Given the description of an element on the screen output the (x, y) to click on. 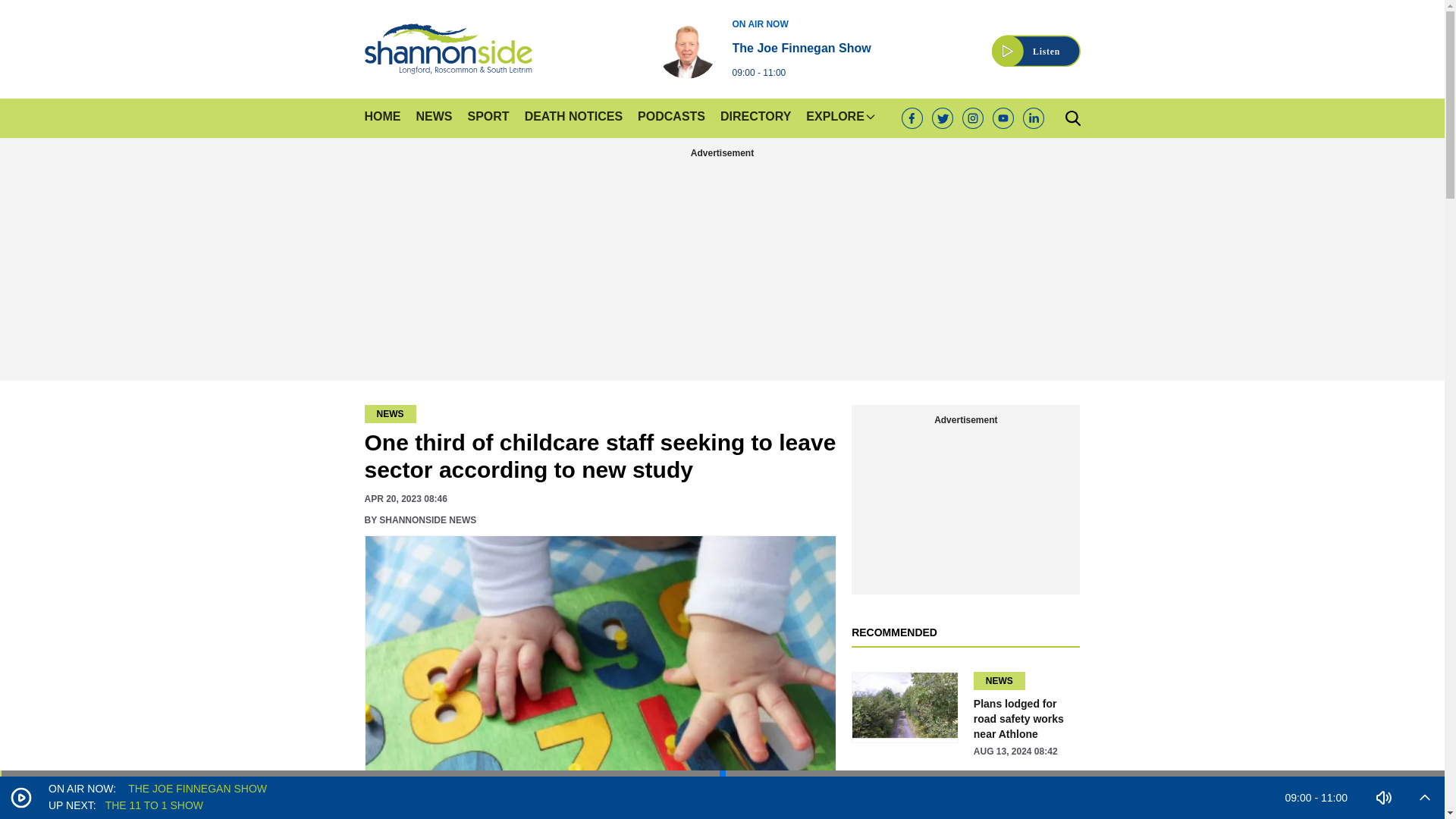
DIRECTORY (755, 118)
Shannonside.ie (447, 47)
Listen (1035, 42)
PODCASTS (670, 118)
HOME (382, 118)
Listen (1035, 42)
NEWS (763, 48)
DEATH NOTICES (432, 118)
SPORT (573, 118)
